Given the description of an element on the screen output the (x, y) to click on. 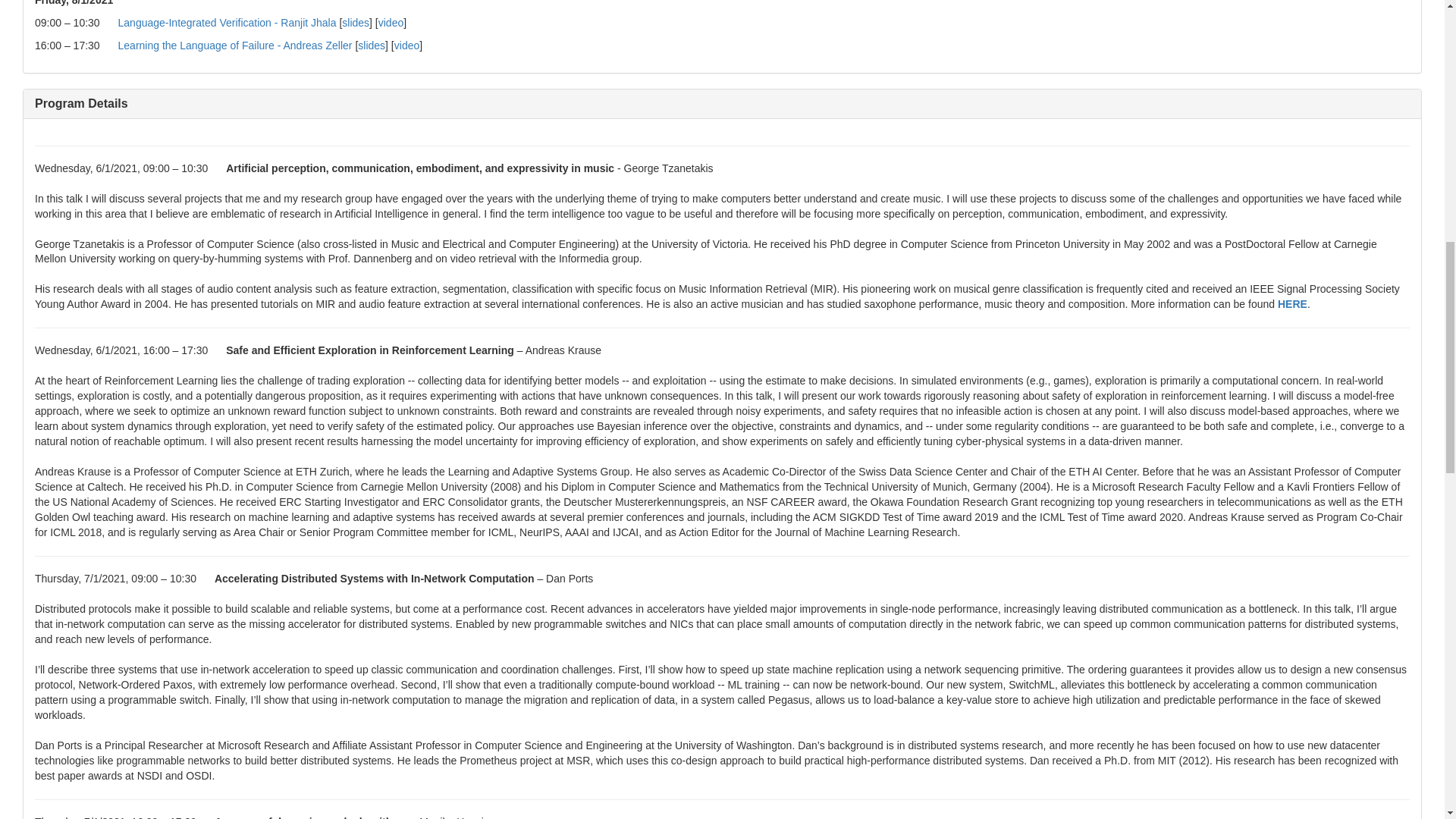
Learning the Language of Failure - Andreas Zeller (234, 45)
Language-Integrated Verification - Ranjit Jhala (226, 22)
video (406, 45)
slides (355, 22)
video (390, 22)
HERE (1292, 304)
slides (371, 45)
